Given the description of an element on the screen output the (x, y) to click on. 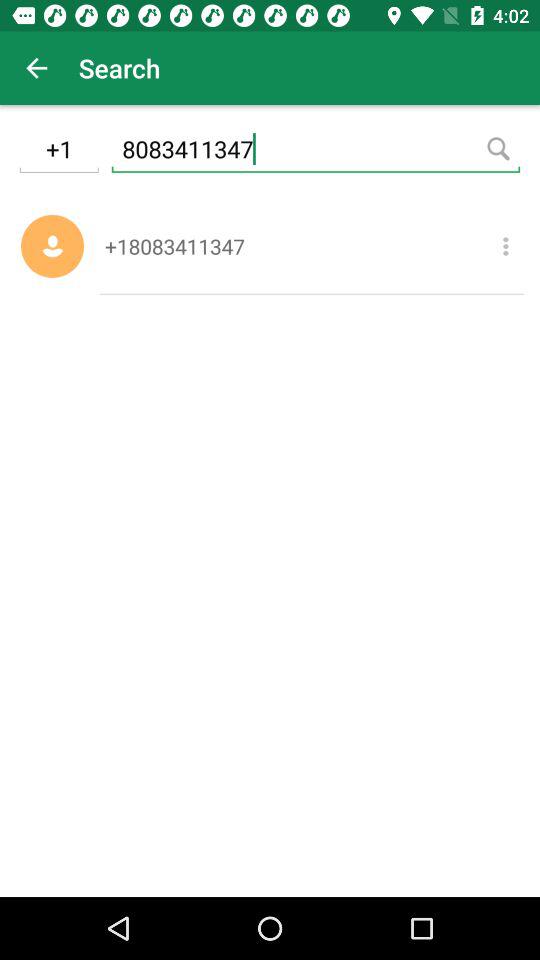
more options (505, 246)
